Given the description of an element on the screen output the (x, y) to click on. 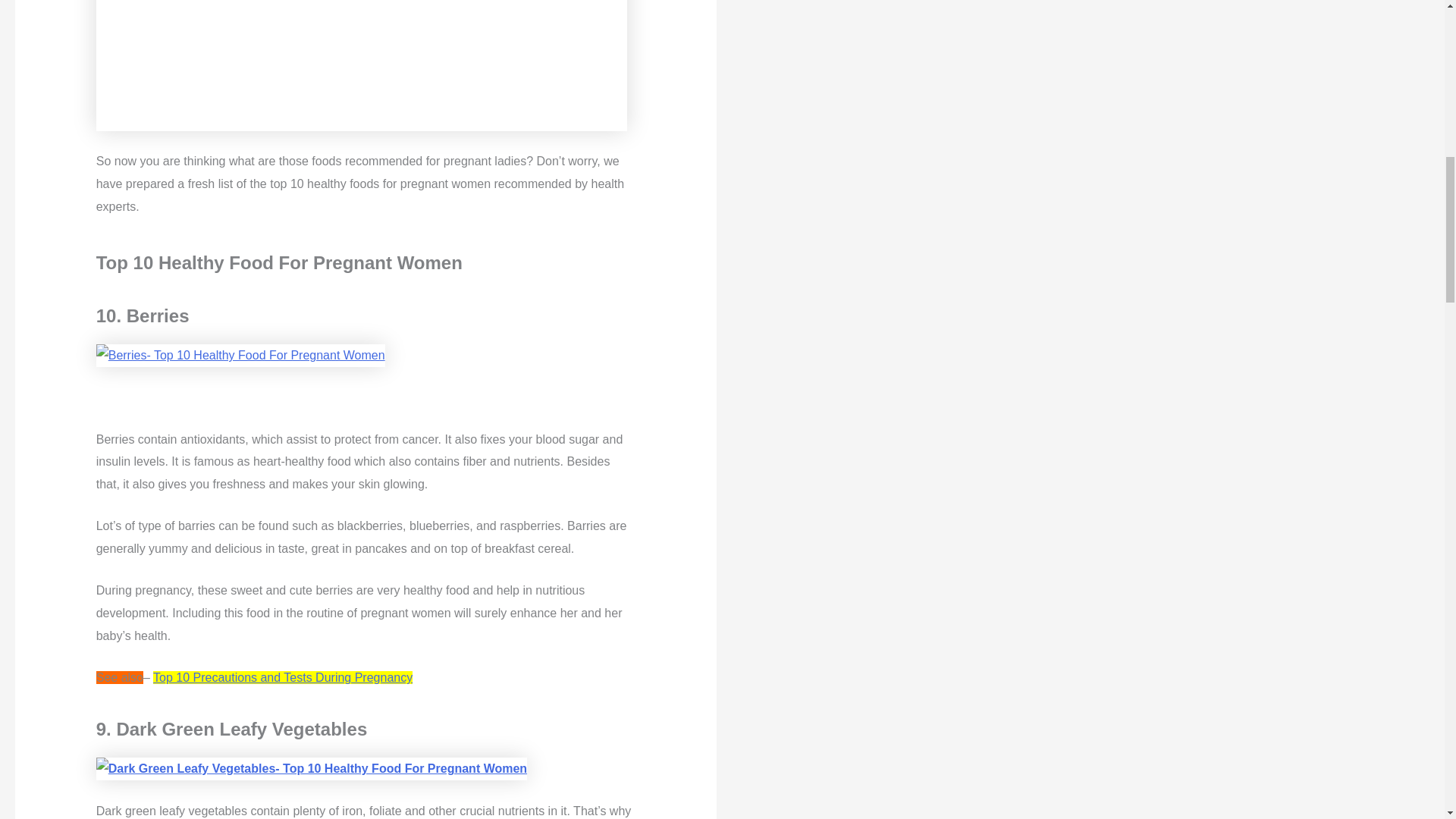
Berries- Top 10 Healthy Food For Pregnant Women (240, 354)
Top 10 Precautions and Tests During Pregnancy (282, 676)
Top 10 Precautions and Tests during Pregnancy (282, 676)
Top 10 Healthy Food For Pregnant Women (361, 65)
